Given the description of an element on the screen output the (x, y) to click on. 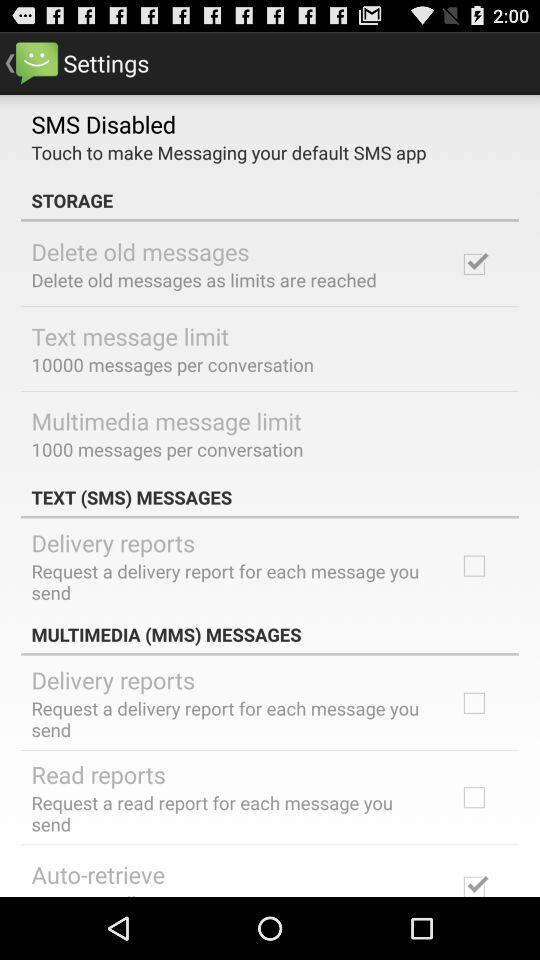
turn on the icon above automatically retrieve messages (97, 874)
